Given the description of an element on the screen output the (x, y) to click on. 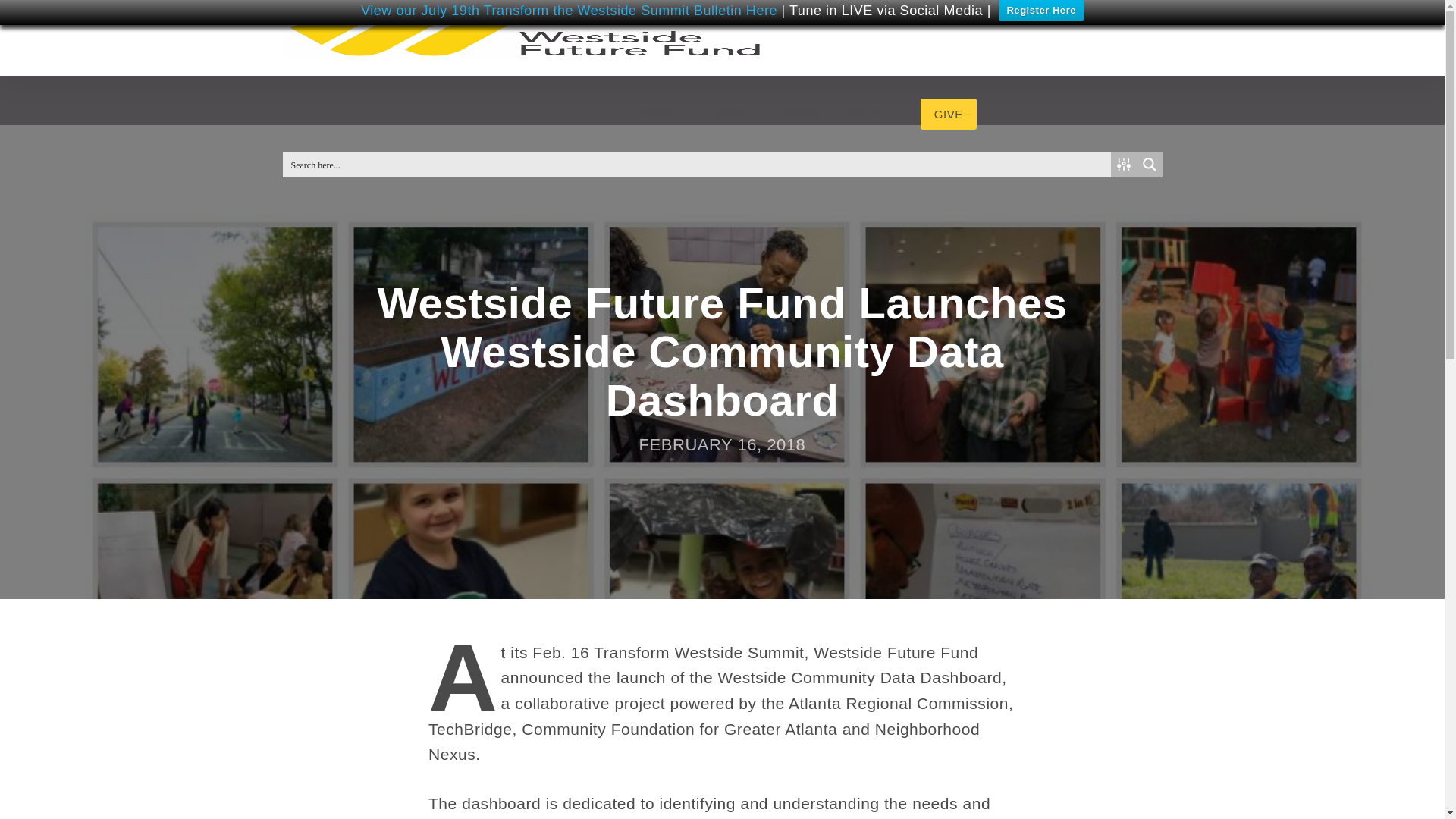
GIVE (948, 113)
EVENTS (871, 113)
IMPACT (734, 113)
Register Here (1040, 10)
ABOUT (664, 113)
